Given the description of an element on the screen output the (x, y) to click on. 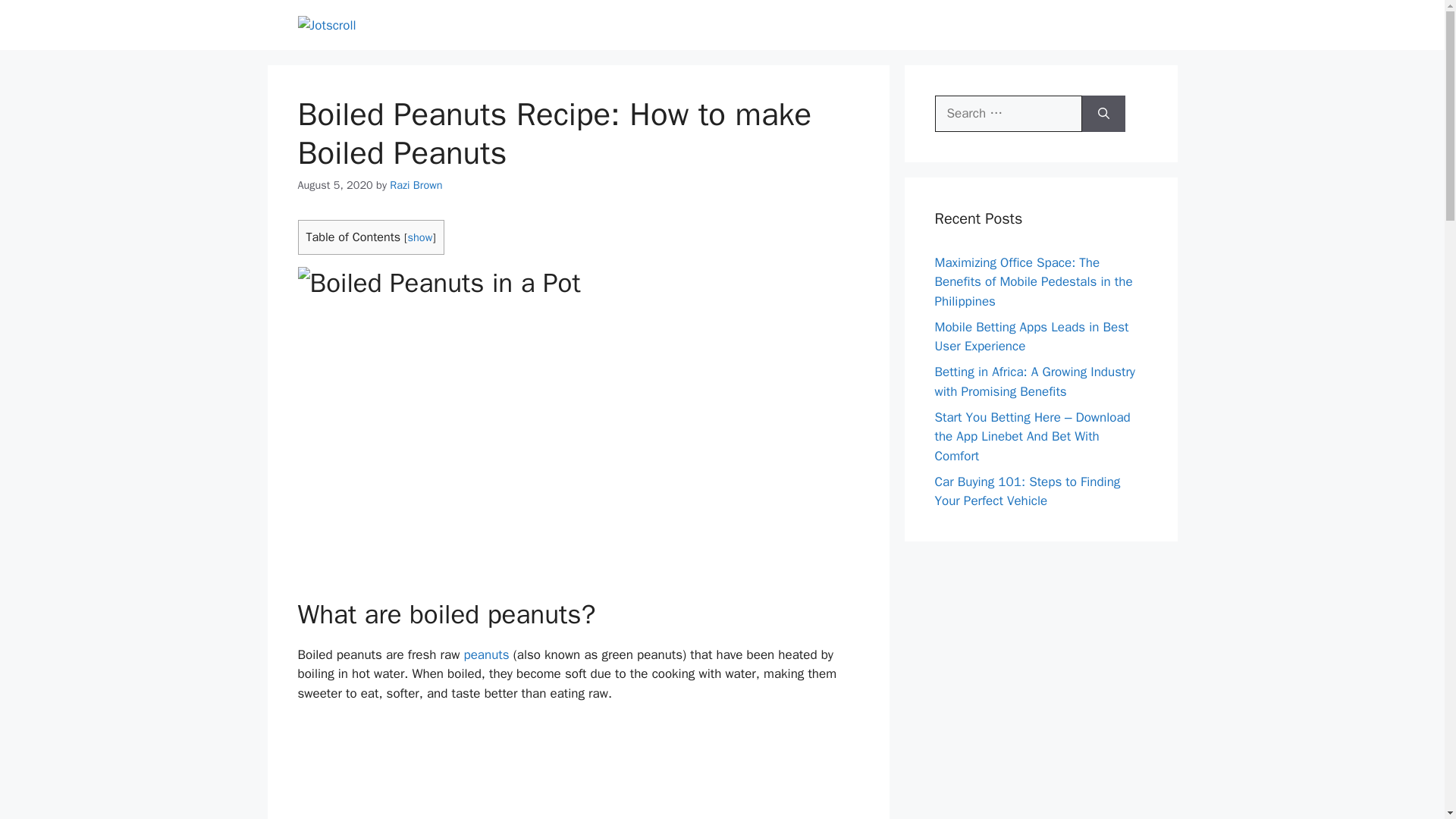
Mobile Betting Apps Leads in Best User Experience (1031, 336)
peanuts (485, 654)
show (419, 237)
View all posts by Razi Brown (416, 184)
Advertisement (578, 770)
Car Buying 101: Steps to Finding Your Perfect Vehicle (1026, 491)
Search for: (1007, 113)
Razi Brown (416, 184)
